Given the description of an element on the screen output the (x, y) to click on. 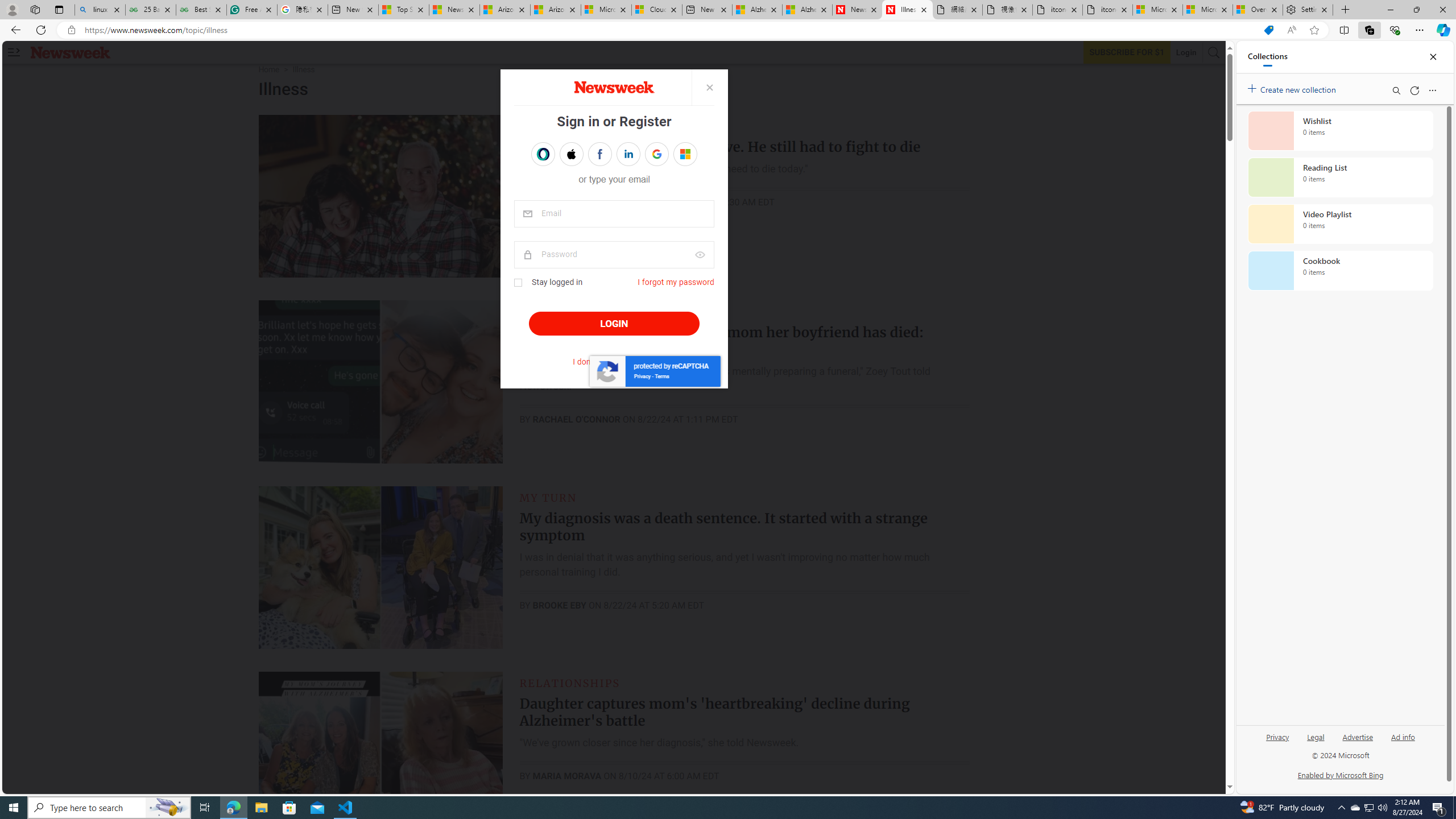
Microsoft (684, 153)
I forgot my password (675, 282)
Cookbook collection, 0 items (1339, 270)
ON THE INTERNET (576, 312)
